Given the description of an element on the screen output the (x, y) to click on. 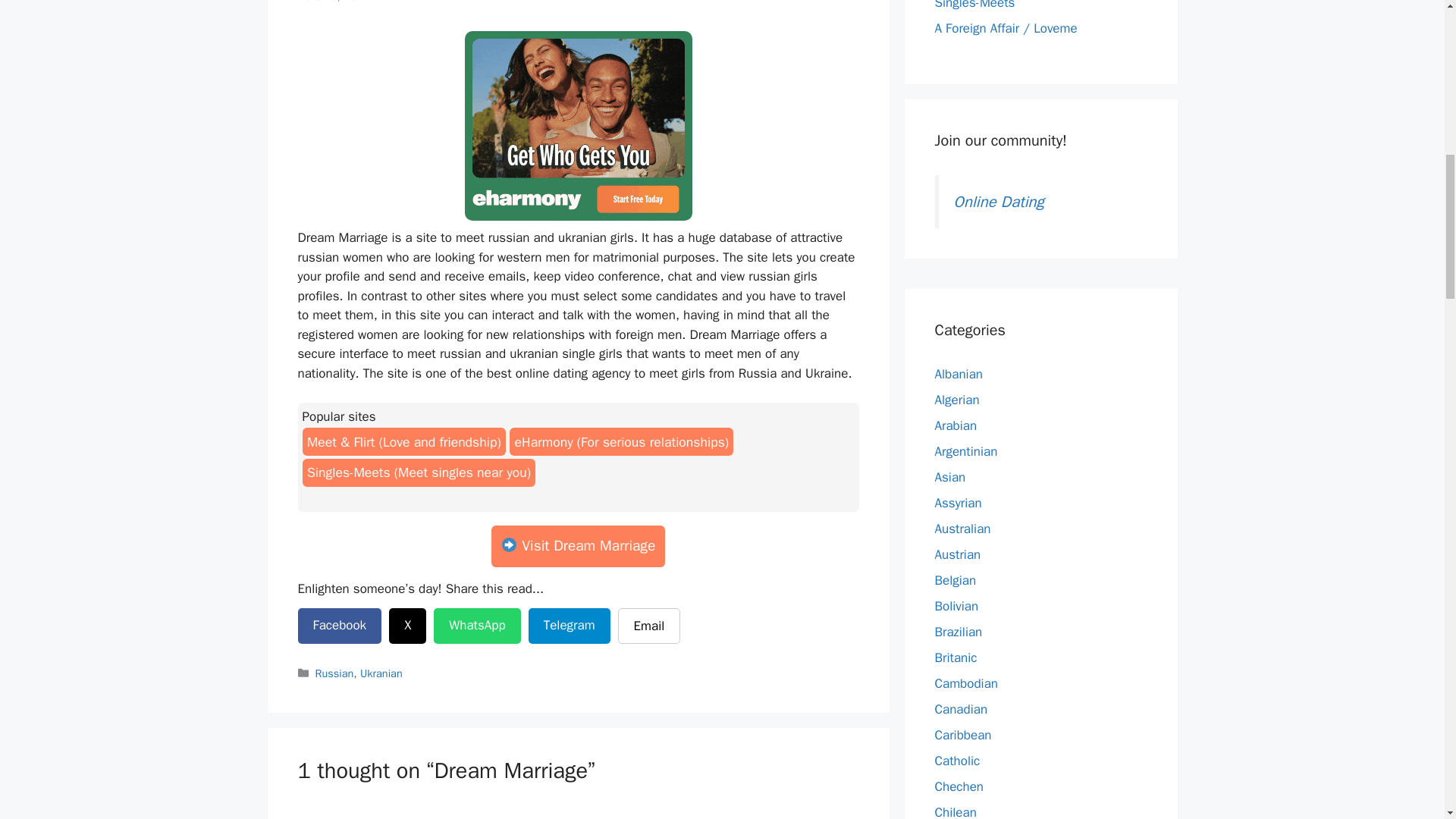
Visit Dream Marriage (578, 545)
Singles-Meets (974, 5)
Email (649, 626)
Facebook (339, 626)
Albanian (957, 374)
WhatsApp (476, 626)
Russian (334, 673)
Telegram (569, 626)
X (407, 626)
Online Dating (998, 200)
Ukranian (381, 673)
